Given the description of an element on the screen output the (x, y) to click on. 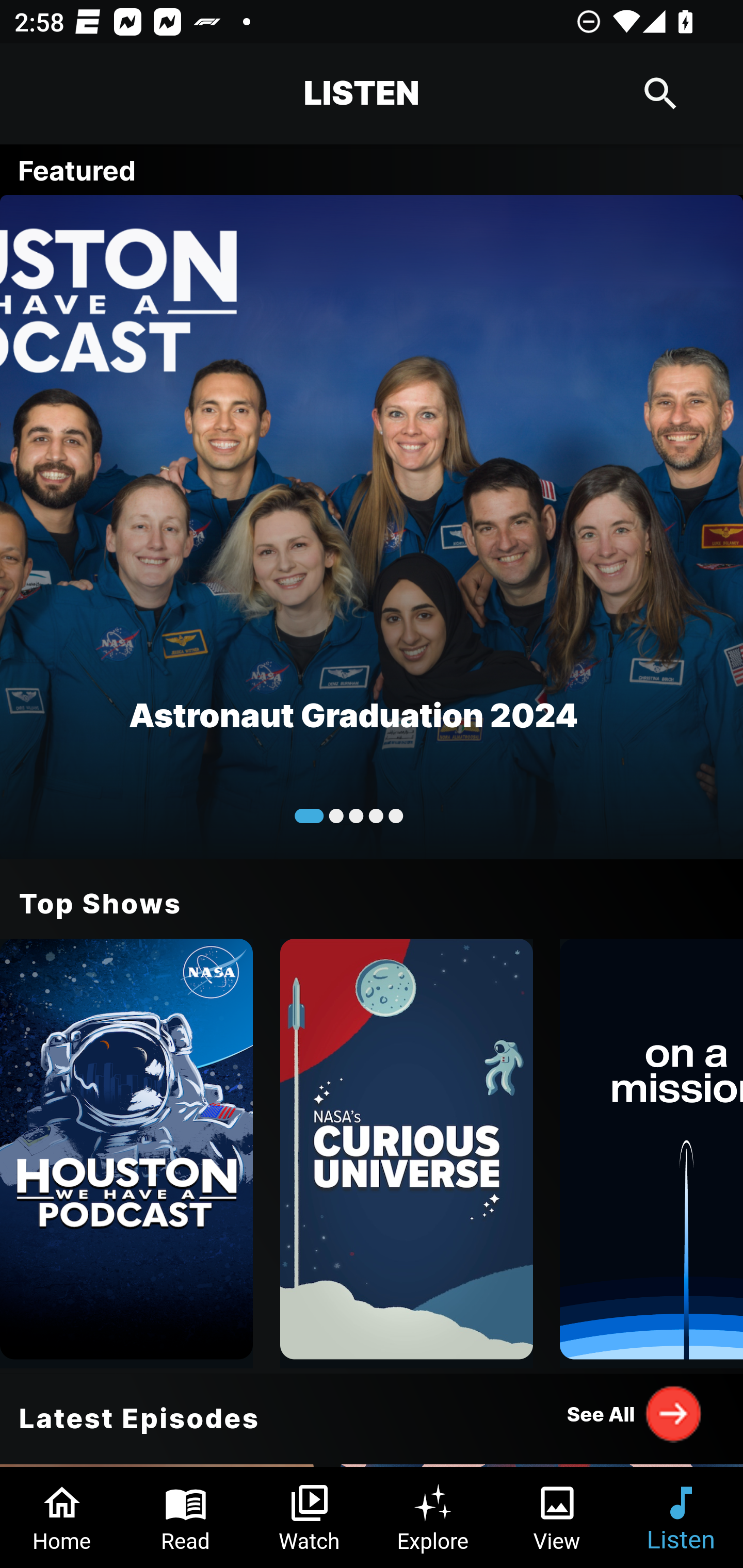
Astronaut Graduation 2024 (371, 526)
See All (634, 1413)
Home
Tab 1 of 6 (62, 1517)
Read
Tab 2 of 6 (185, 1517)
Watch
Tab 3 of 6 (309, 1517)
Explore
Tab 4 of 6 (433, 1517)
View
Tab 5 of 6 (556, 1517)
Listen
Tab 6 of 6 (680, 1517)
